Given the description of an element on the screen output the (x, y) to click on. 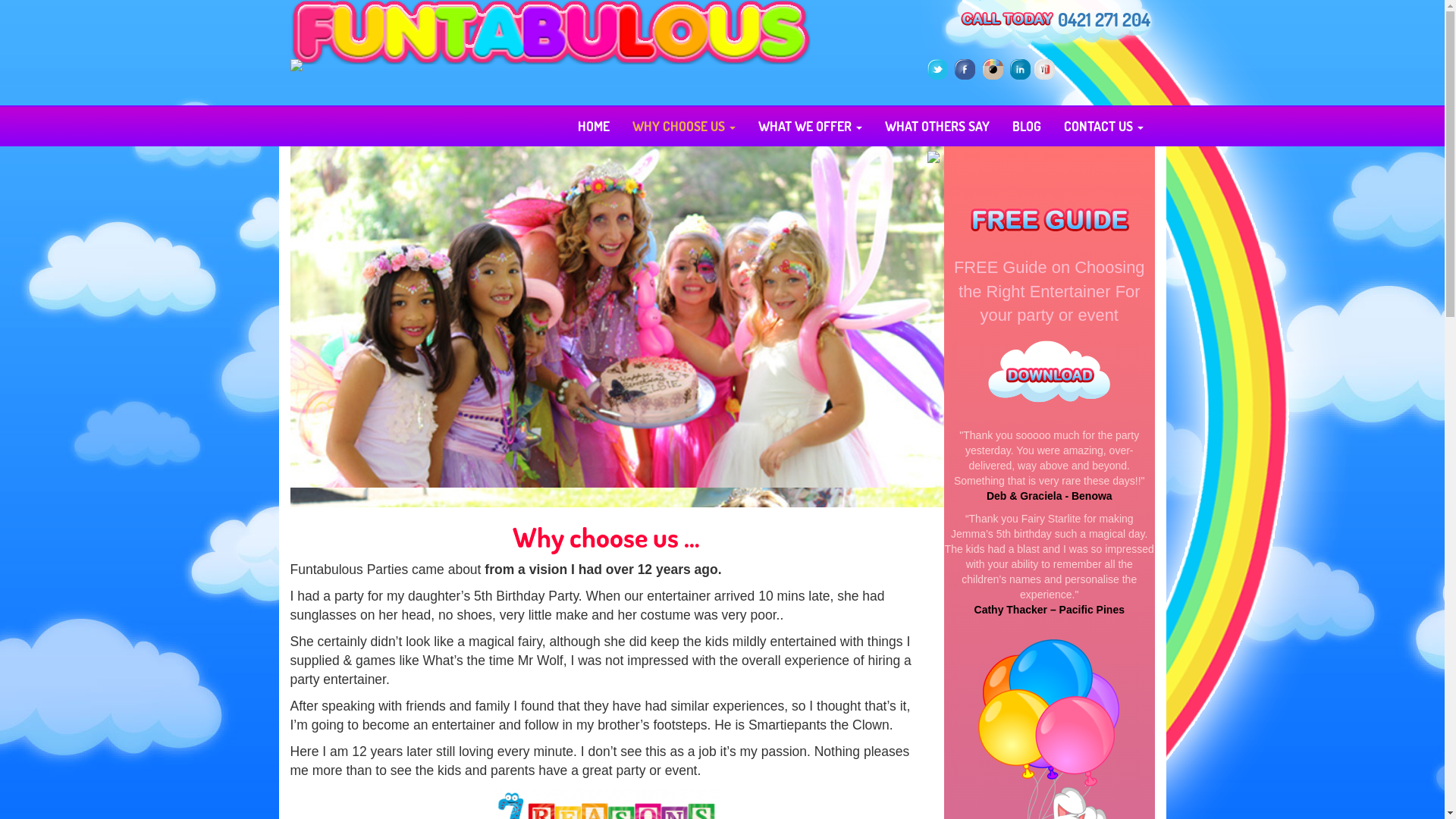
Download Element type: text (1049, 373)
0421 271 204 Element type: text (1103, 19)
WHAT WE OFFER Element type: text (809, 125)
BLOG Element type: text (1026, 125)
CONTACT US Element type: text (1103, 125)
WHAT OTHERS SAY Element type: text (937, 125)
WHY CHOOSE US Element type: text (683, 125)
Funtabulous Parties Pty Ltd Element type: text (591, 33)
HOME Element type: text (592, 125)
